Given the description of an element on the screen output the (x, y) to click on. 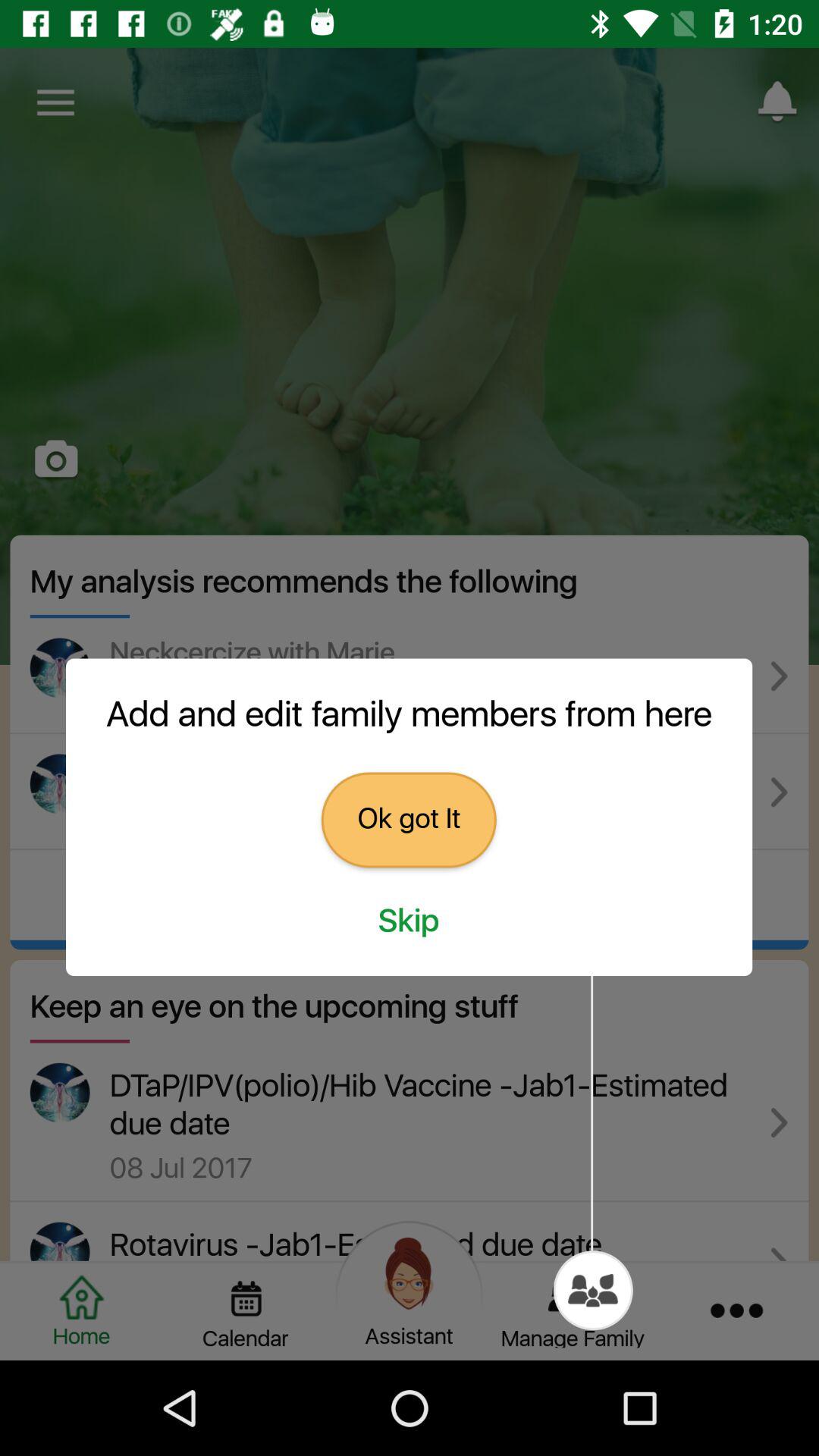
click item above the skip icon (408, 819)
